Given the description of an element on the screen output the (x, y) to click on. 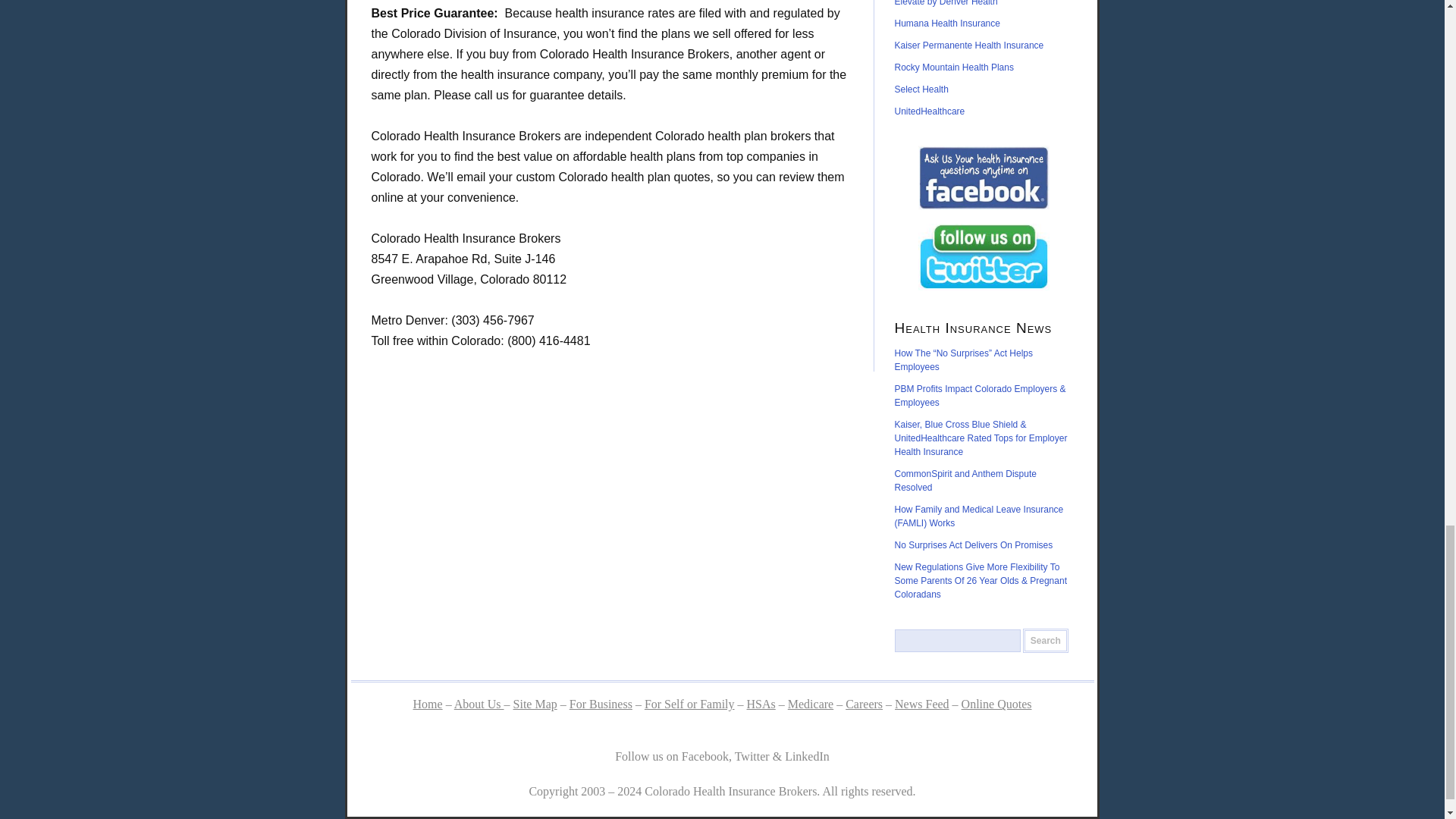
Search (1045, 640)
Follow Us on Twitter (983, 256)
Like Us on Facebook (983, 177)
